Given the description of an element on the screen output the (x, y) to click on. 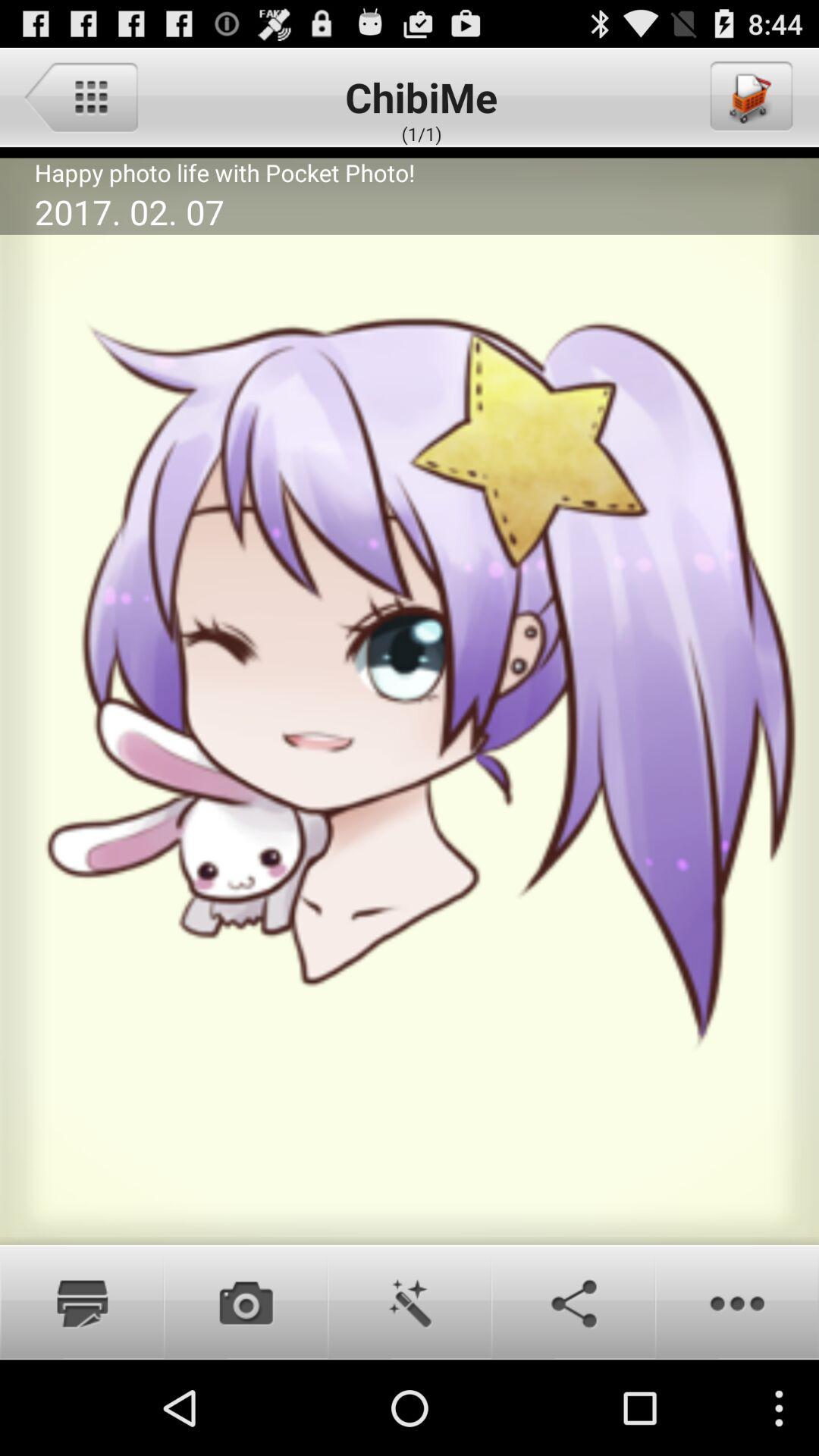
turn off app next to chibime icon (80, 96)
